Given the description of an element on the screen output the (x, y) to click on. 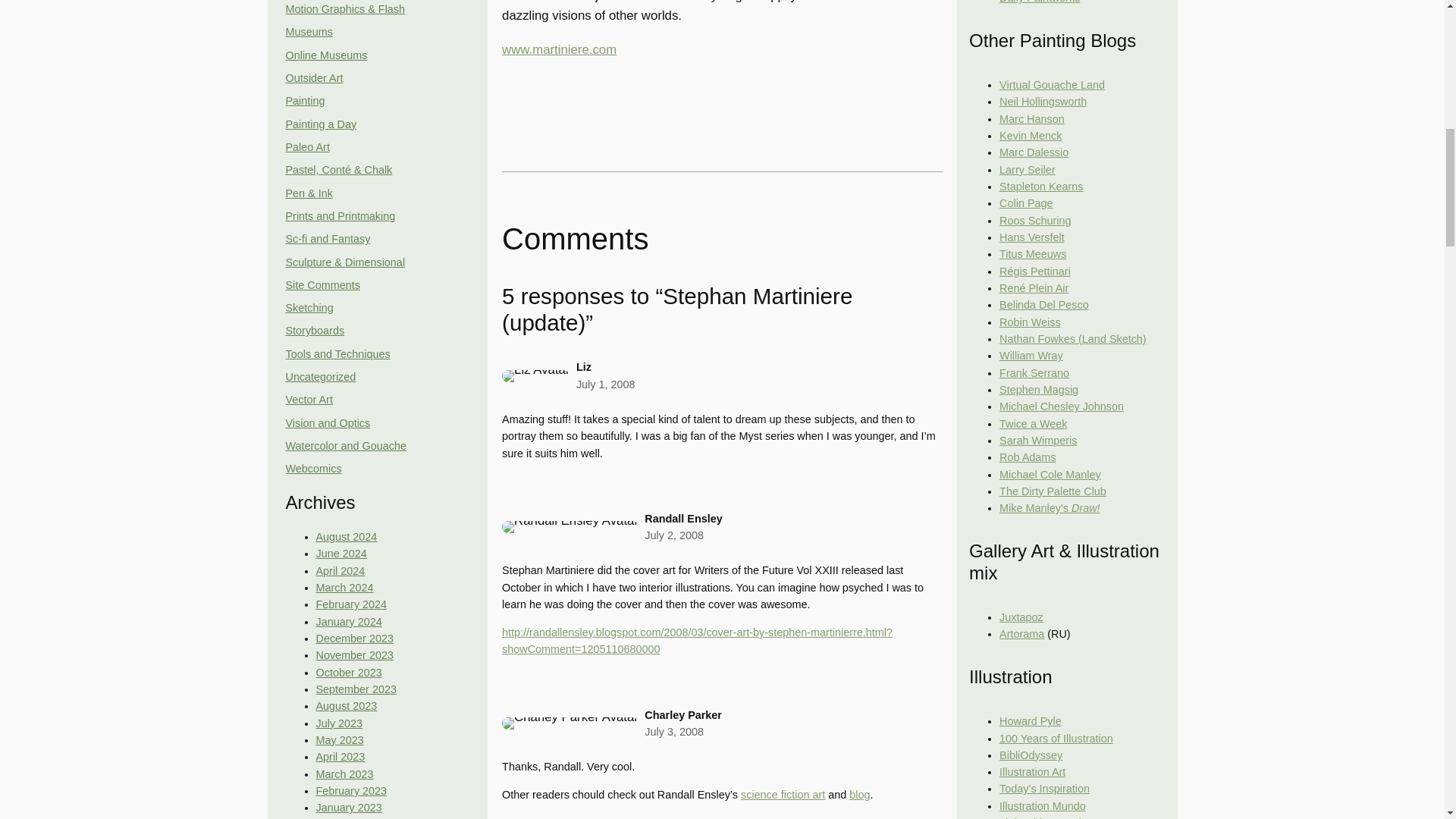
Tools and Techniques (337, 354)
Online Museums (325, 55)
Painting (304, 101)
Sc-fi and Fantasy (327, 238)
Outsider Art (313, 78)
Sketching (309, 307)
Museums (308, 31)
Prints and Printmaking (339, 215)
Uncategorized (320, 377)
Paleo Art (307, 146)
